Given the description of an element on the screen output the (x, y) to click on. 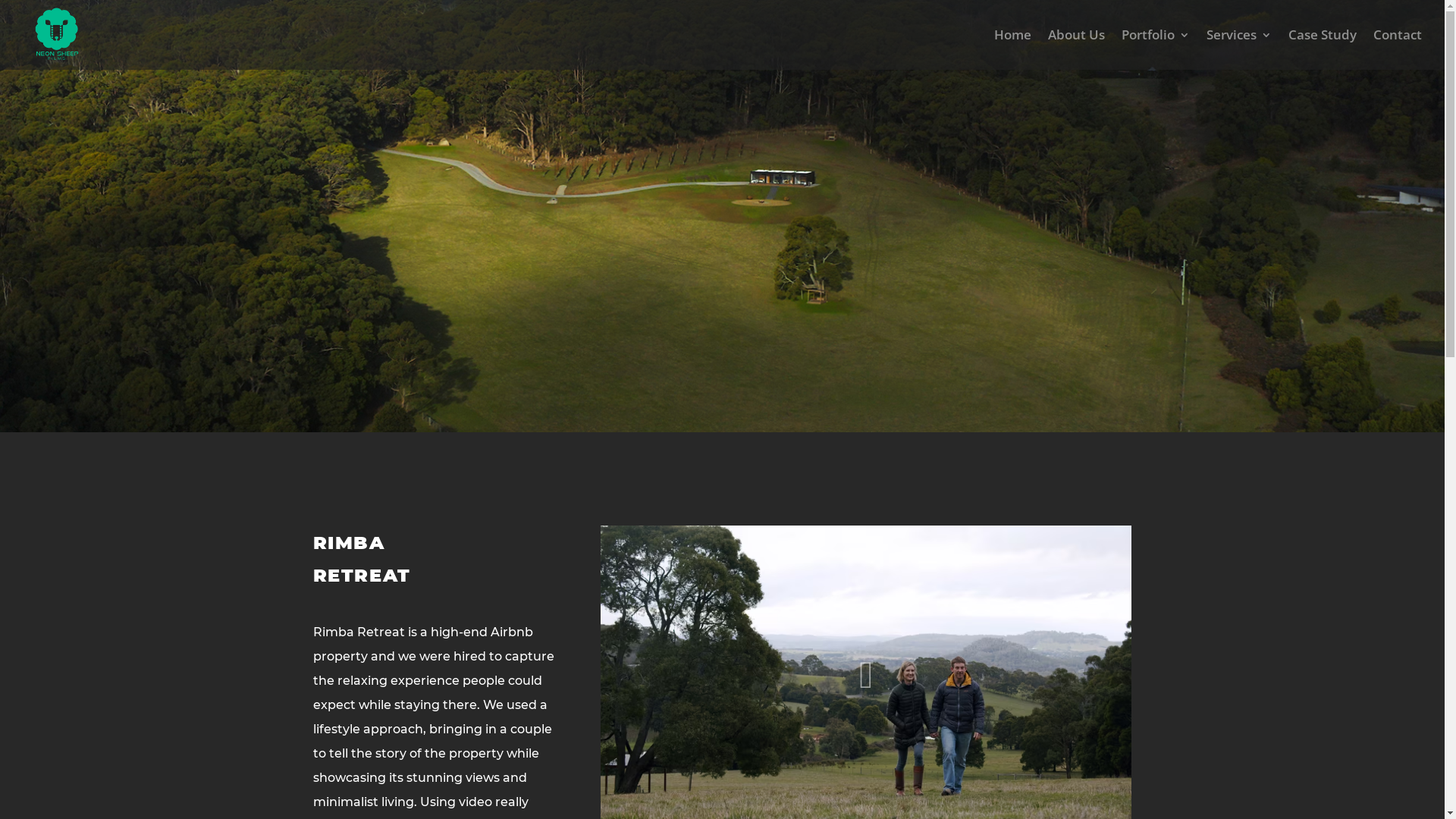
Contact Element type: text (1397, 49)
About Us Element type: text (1076, 49)
Home Element type: text (1012, 49)
Portfolio Element type: text (1155, 49)
Services Element type: text (1238, 49)
Case Study Element type: text (1322, 49)
